Given the description of an element on the screen output the (x, y) to click on. 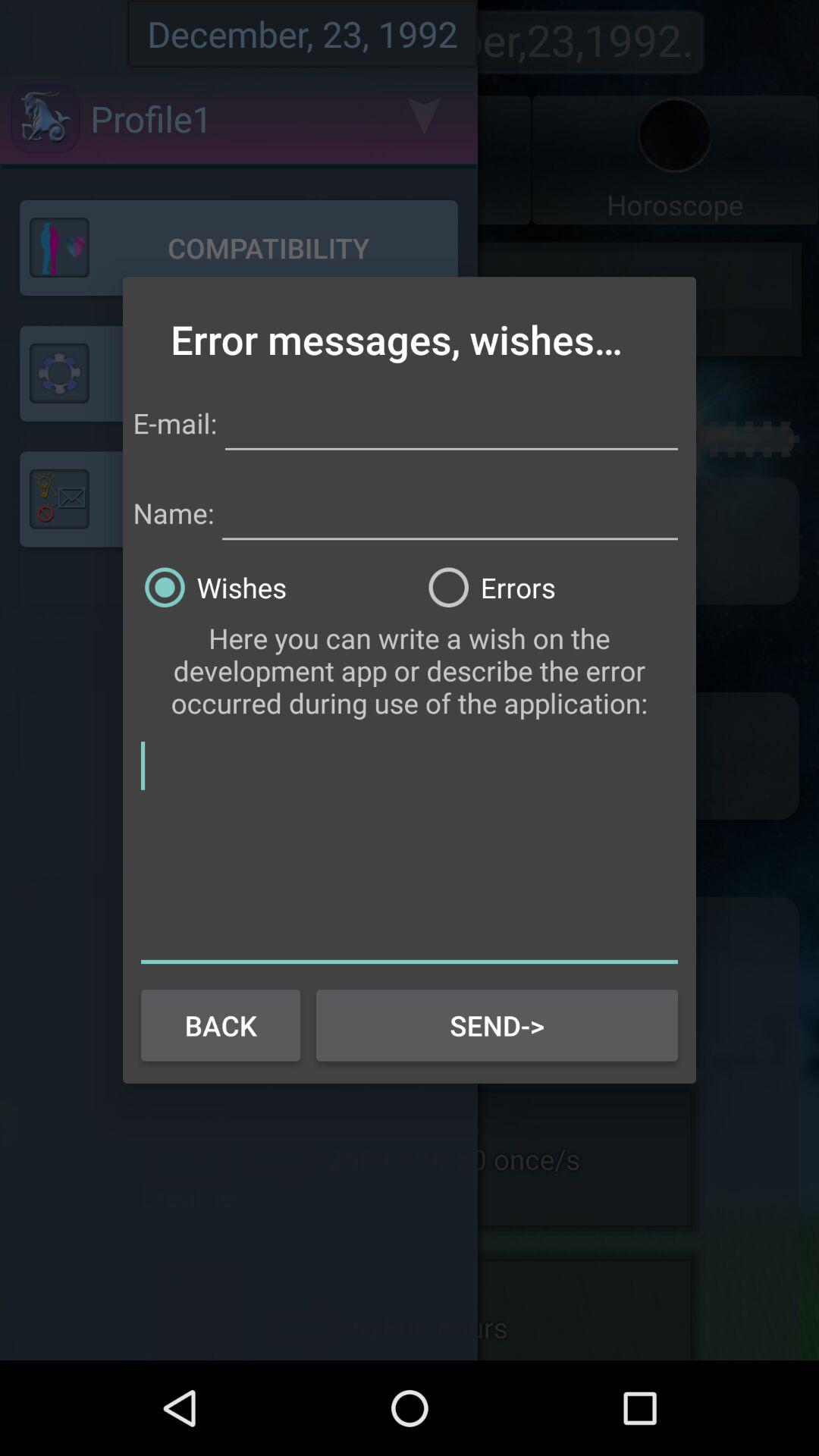
turn on button next to send-> item (220, 1025)
